Given the description of an element on the screen output the (x, y) to click on. 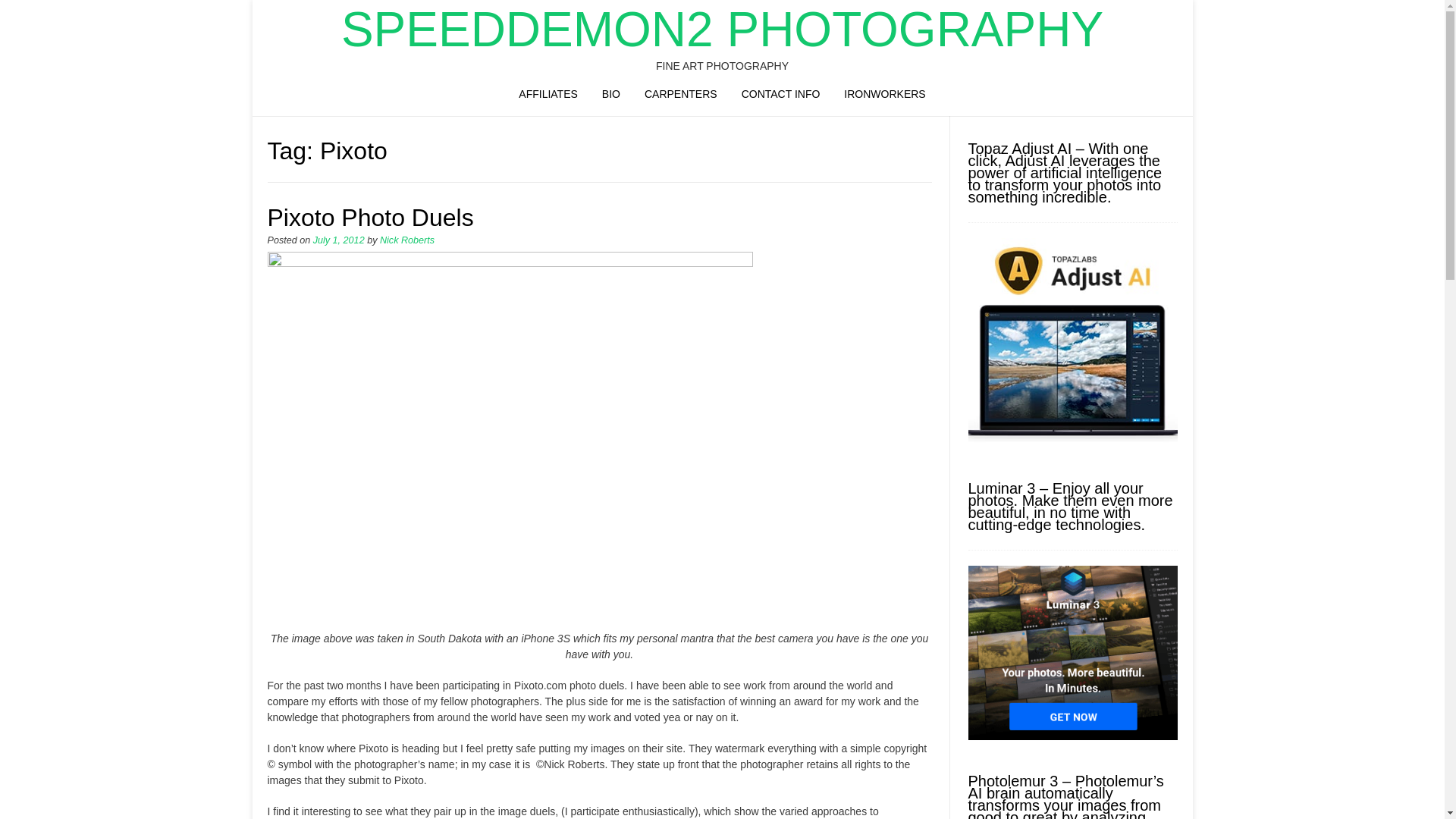
Speeddemon2 Photography (721, 29)
AFFILIATES (547, 96)
Adjust AI (1072, 443)
SPEEDDEMON2 PHOTOGRAPHY (721, 29)
Pixoto Photo Duels (369, 216)
CARPENTERS (680, 96)
BIO (610, 96)
CONTACT INFO (780, 96)
